Given the description of an element on the screen output the (x, y) to click on. 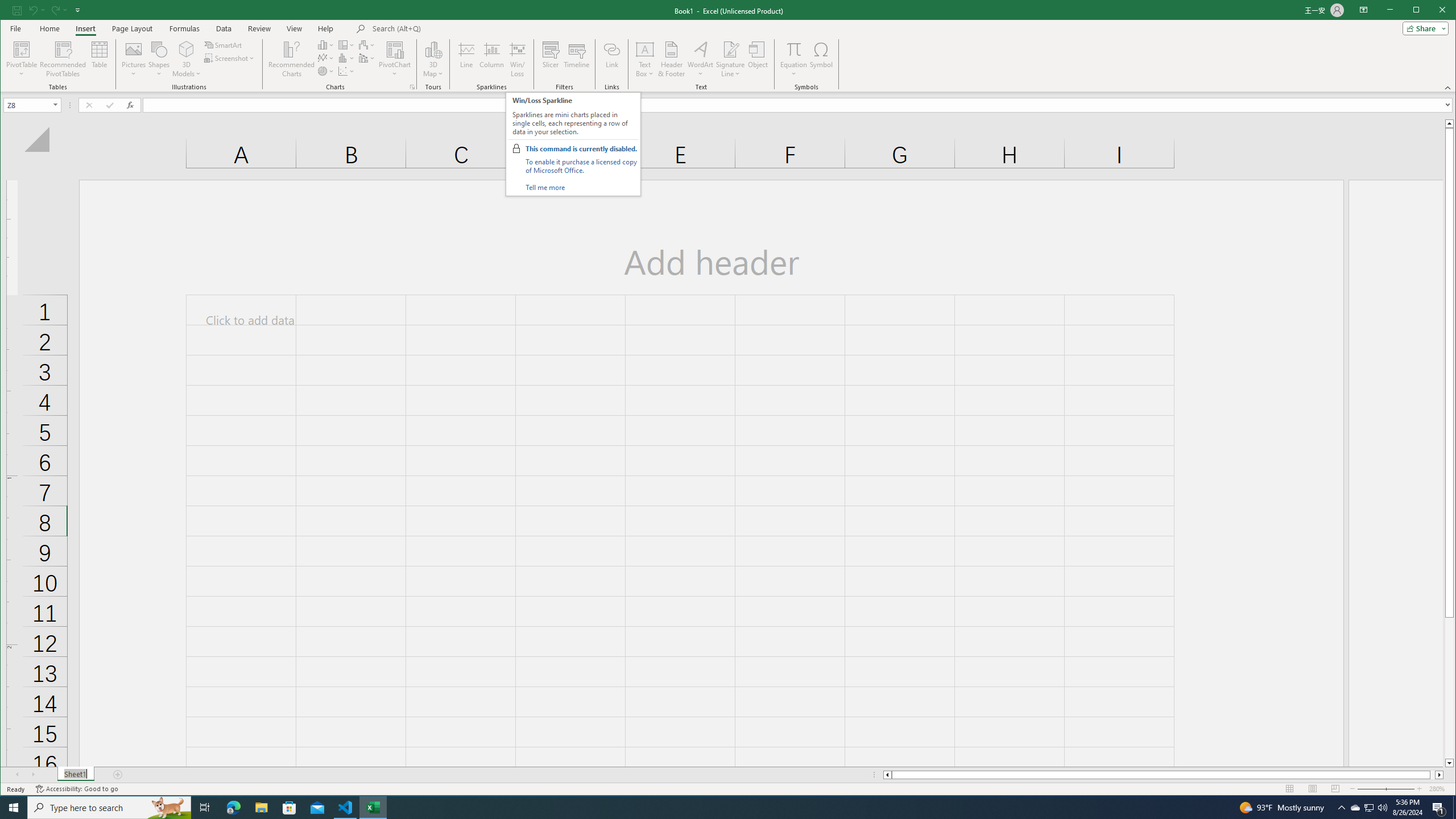
Insert Combo Chart (366, 57)
WordArt (699, 59)
Timeline (576, 59)
Insert Line or Area Chart (325, 57)
Recommended Charts (411, 86)
